Given the description of an element on the screen output the (x, y) to click on. 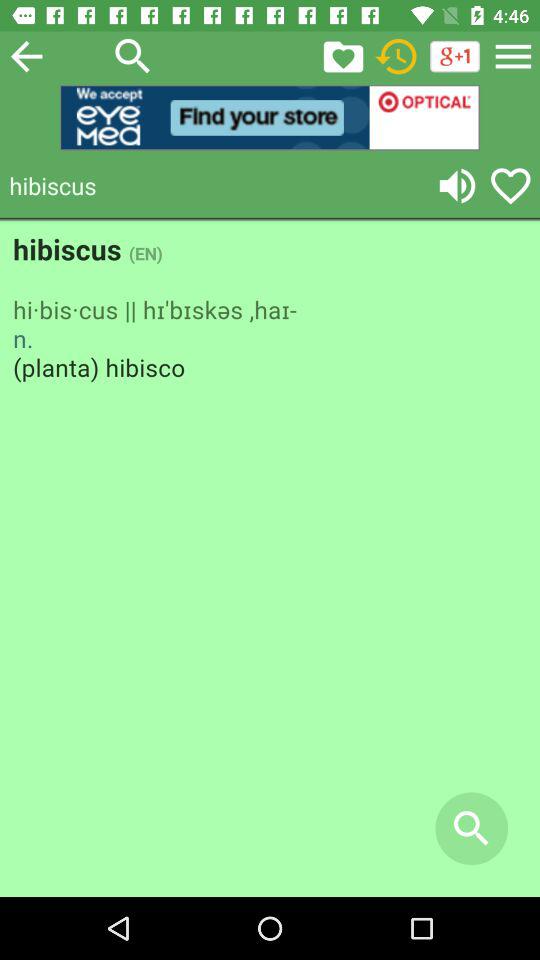
switch the likeoption (343, 56)
